Given the description of an element on the screen output the (x, y) to click on. 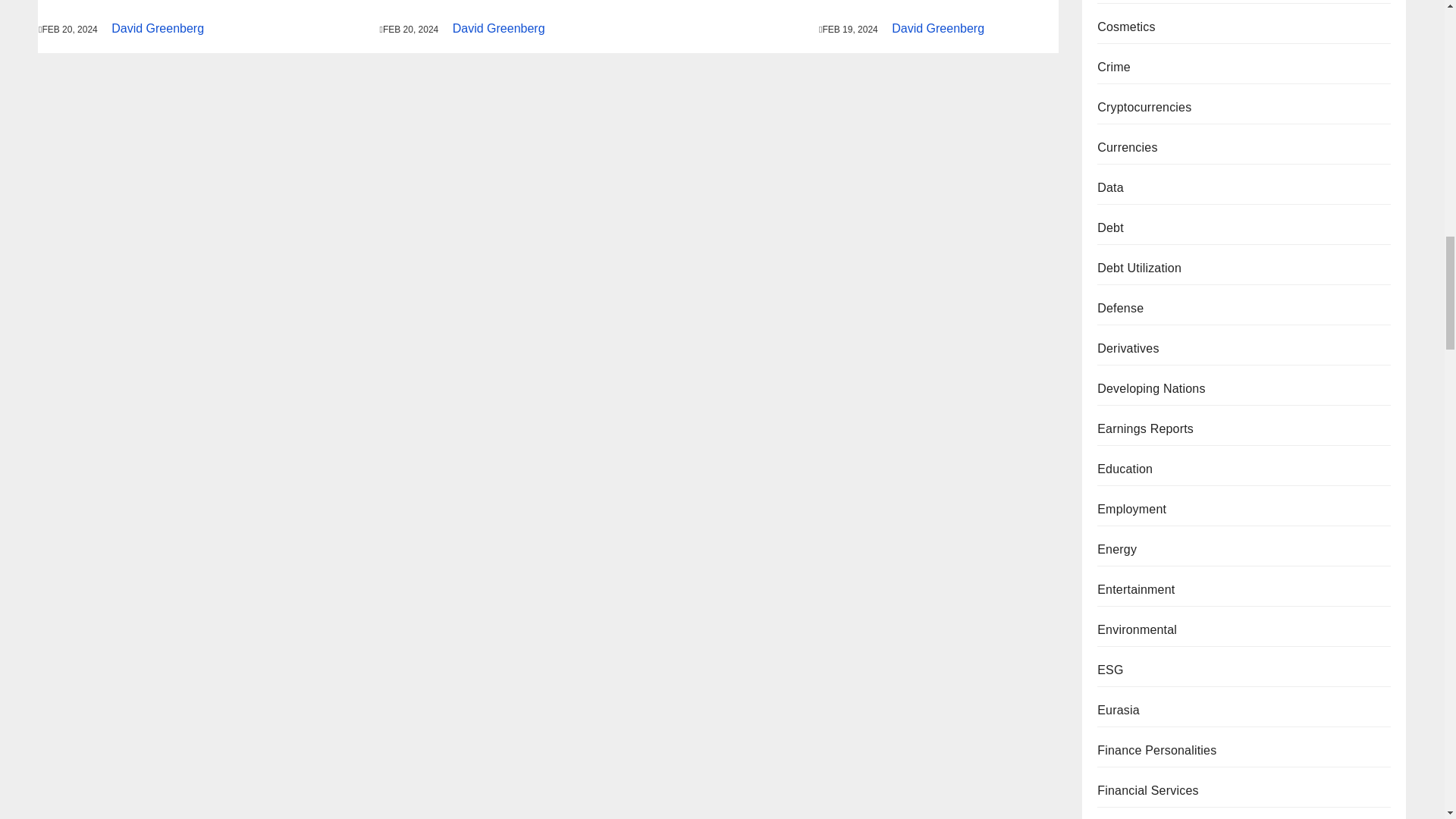
David Greenberg (498, 28)
David Greenberg (157, 28)
David Greenberg (937, 28)
